Given the description of an element on the screen output the (x, y) to click on. 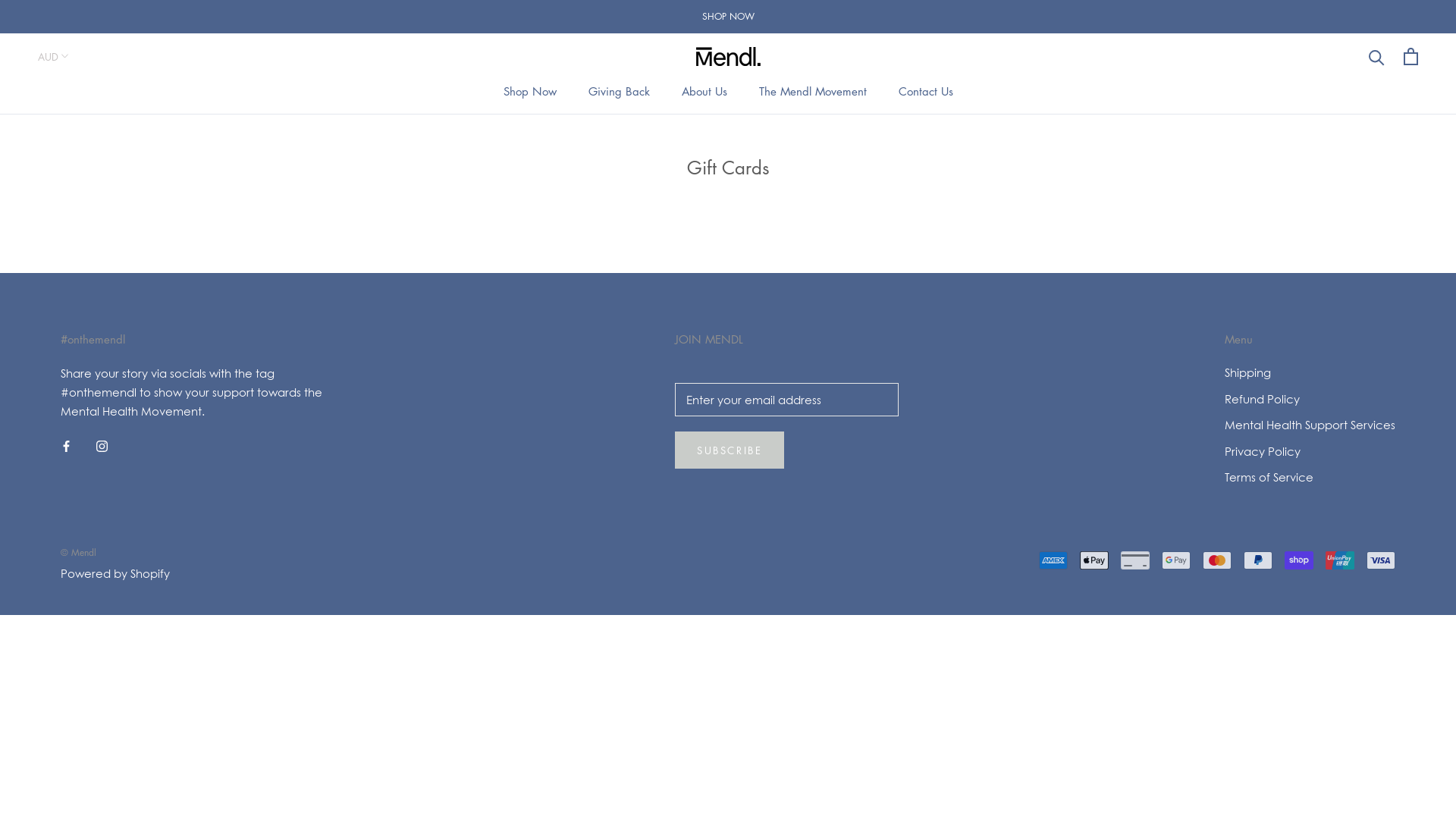
About Us
About Us Element type: text (703, 90)
Shop Now
Shop Now Element type: text (529, 90)
Contact Us
Contact Us Element type: text (924, 90)
The Mendl Movement
The Mendl Movement Element type: text (812, 90)
Refund Policy Element type: text (1309, 398)
Shipping Element type: text (1309, 372)
Mental Health Support Services Element type: text (1309, 424)
Privacy Policy Element type: text (1309, 451)
Powered by Shopify Element type: text (114, 573)
SUBSCRIBE Element type: text (729, 449)
Terms of Service Element type: text (1309, 477)
Giving Back
Giving Back Element type: text (618, 90)
